Given the description of an element on the screen output the (x, y) to click on. 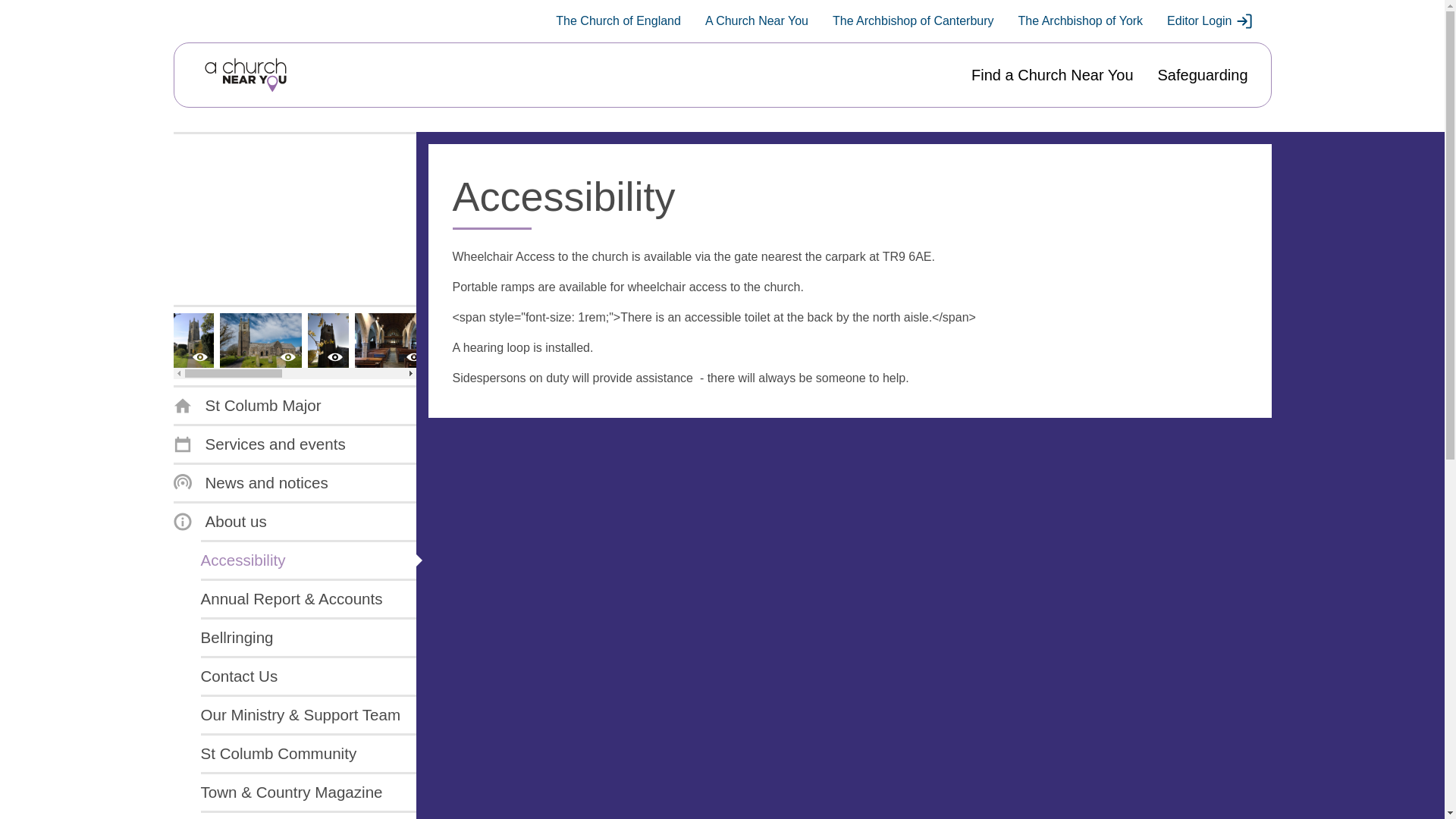
ACNY home (245, 75)
The Archbishop of Canterbury (913, 21)
Find a Church Near You (1051, 75)
A Church Near You (756, 21)
Safeguarding (1202, 75)
The Archbishop of York (1079, 21)
Editor Login (1209, 21)
The Church of England (618, 21)
